Given the description of an element on the screen output the (x, y) to click on. 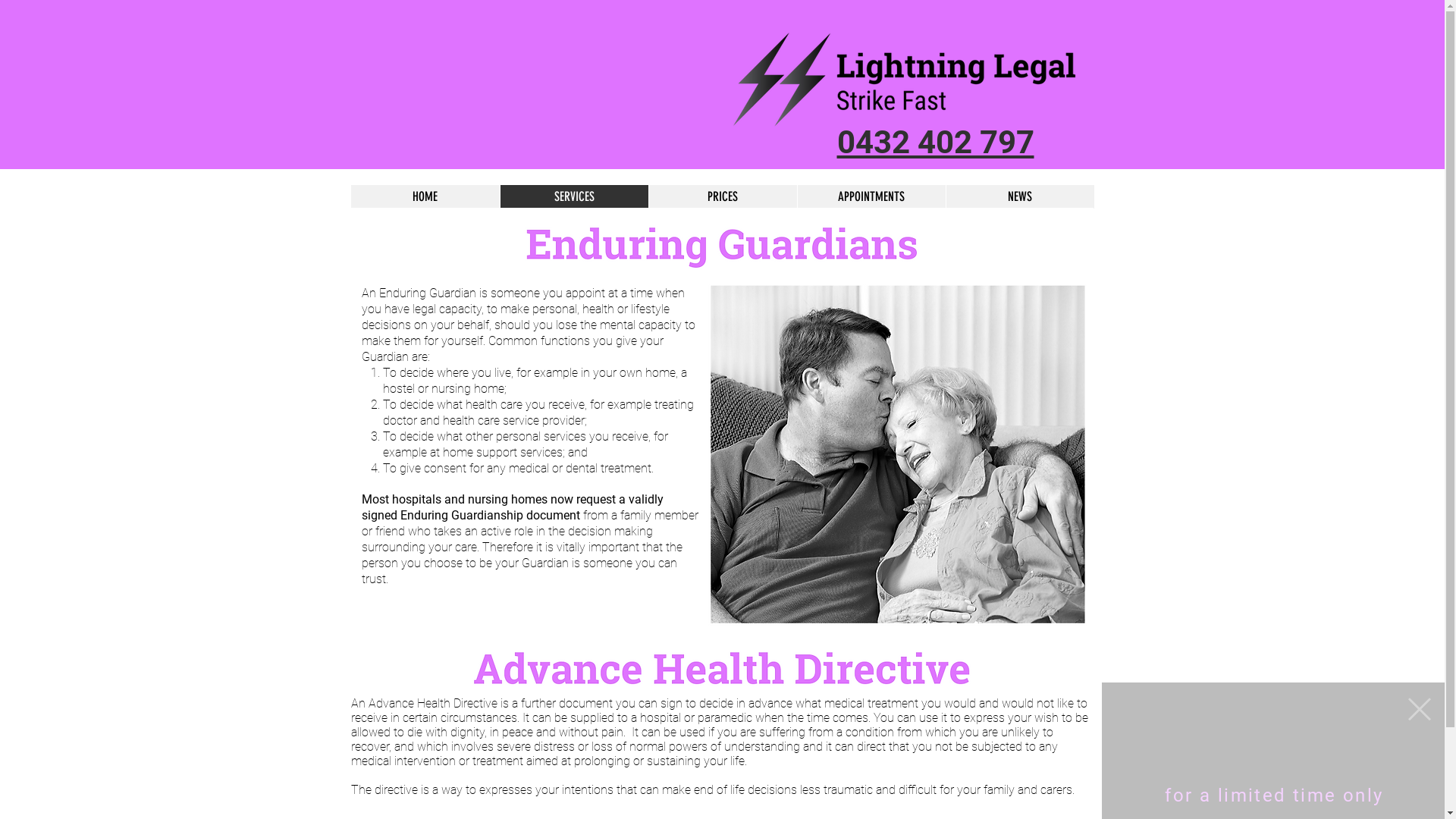
NEWS Element type: text (1018, 196)
APPOINTMENTS Element type: text (870, 196)
Back to site Element type: hover (1419, 775)
PRICES Element type: text (721, 196)
HOME Element type: text (424, 196)
SERVICES Element type: text (572, 196)
0432 402 797 Element type: text (935, 141)
